Given the description of an element on the screen output the (x, y) to click on. 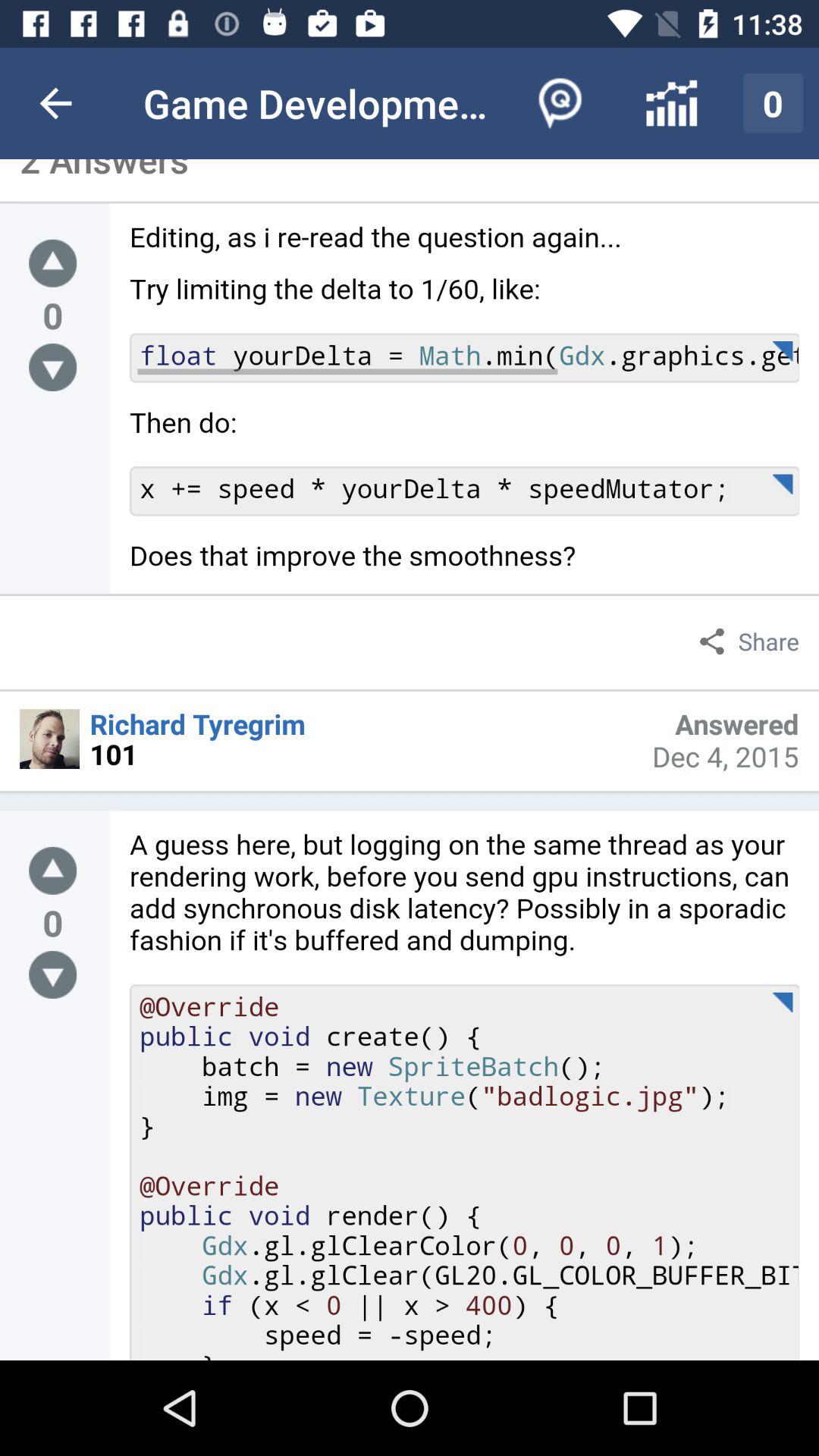
vote down (52, 367)
